Given the description of an element on the screen output the (x, y) to click on. 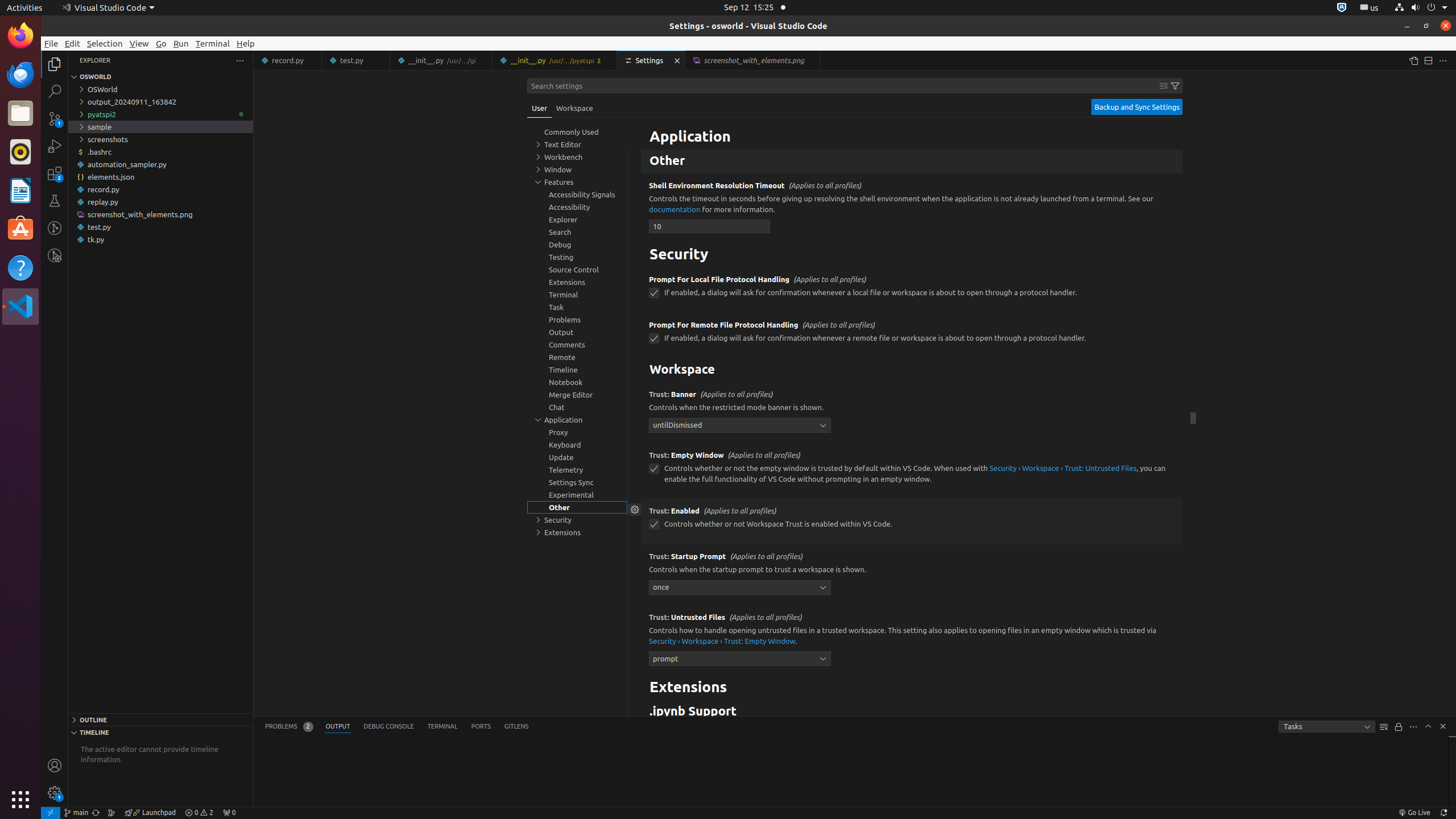
GitLens Inspect Element type: page-tab (54, 255)
Views and More Actions... Element type: push-button (1413, 726)
Search, group Element type: tree-item (577, 231)
Warnings: 2 Element type: push-button (199, 812)
